Given the description of an element on the screen output the (x, y) to click on. 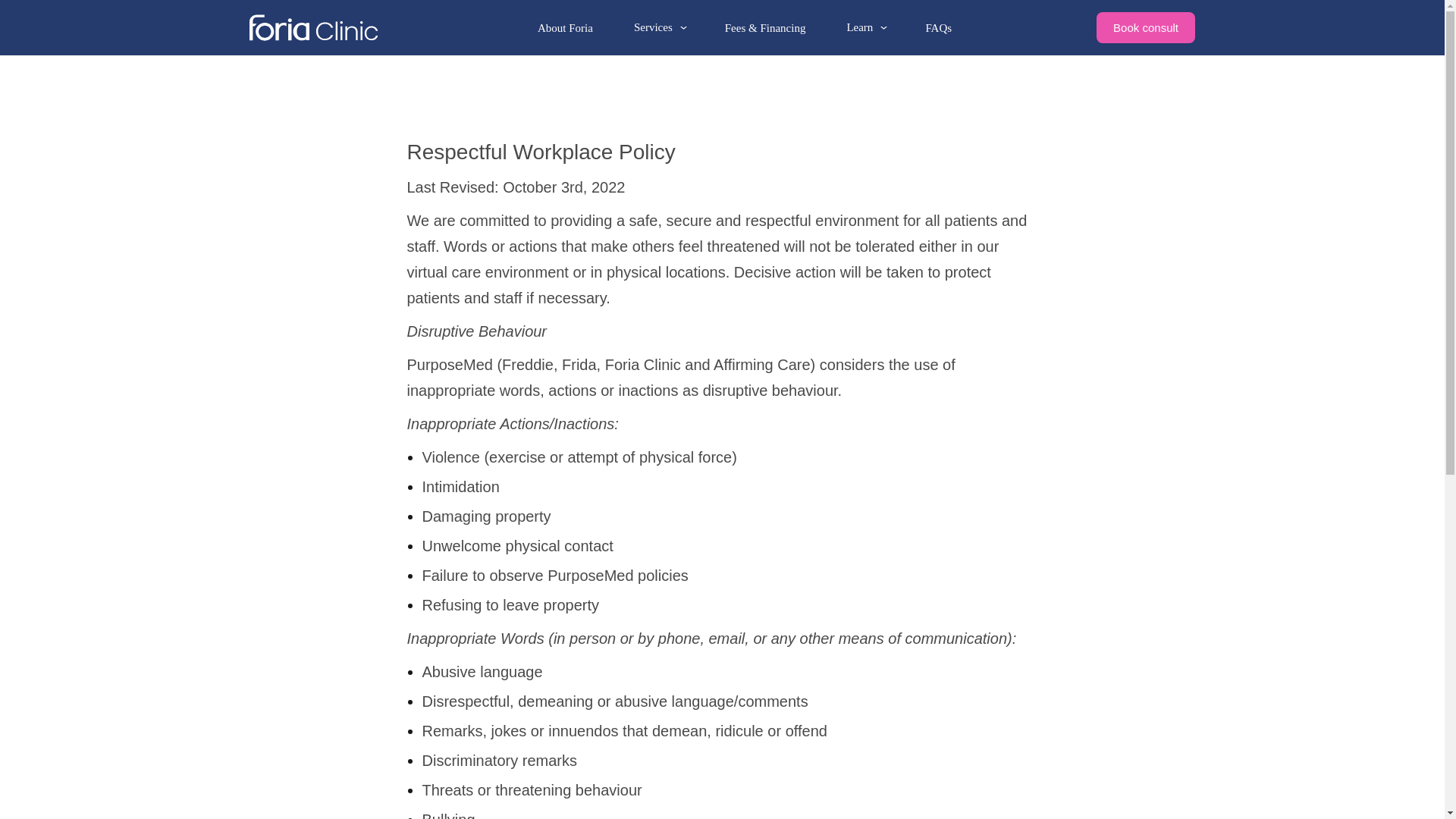
Learn (864, 27)
Services (659, 27)
About Foria (564, 27)
